Given the description of an element on the screen output the (x, y) to click on. 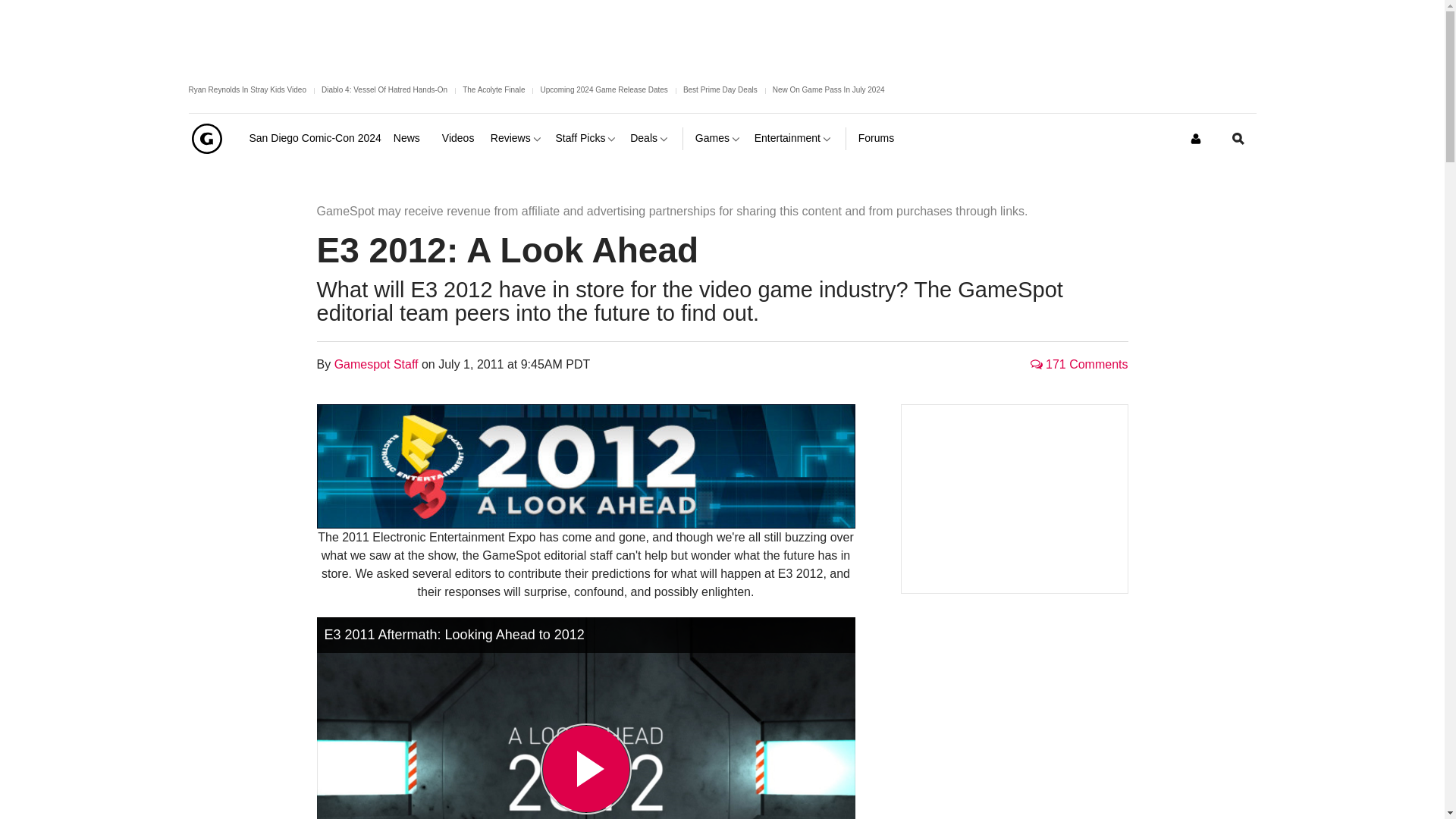
Upcoming 2024 Game Release Dates (603, 89)
Best Prime Day Deals (719, 89)
Games (718, 138)
News (411, 138)
Staff Picks (587, 138)
Diablo 4: Vessel Of Hatred Hands-On (383, 89)
San Diego Comic-Con 2024 (314, 138)
Videos (460, 138)
Ryan Reynolds In Stray Kids Video (246, 89)
GameSpot (205, 138)
New On Game Pass In July 2024 (829, 89)
Reviews (516, 138)
The Acolyte Finale (493, 89)
Deals (649, 138)
